Given the description of an element on the screen output the (x, y) to click on. 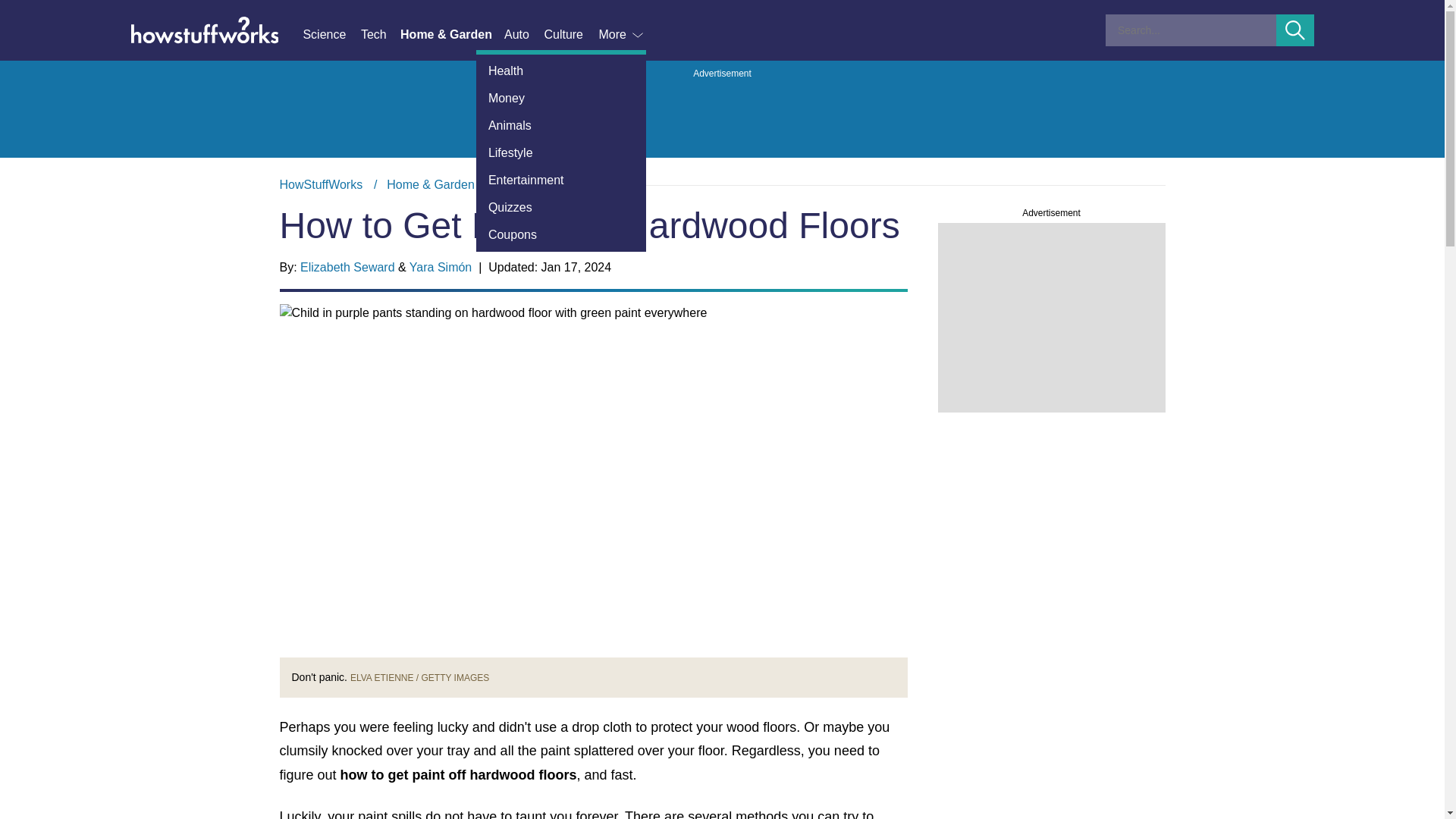
Entertainment (561, 180)
Submit Search (1295, 29)
Money (561, 98)
Elizabeth Seward (346, 267)
More (621, 34)
Tech (380, 34)
Quizzes (561, 207)
HowStuffWorks (320, 184)
Culture (570, 34)
Auto (523, 34)
Animals (561, 125)
Green Living (533, 184)
Health (561, 71)
Science (330, 34)
Lifestyle (561, 153)
